Given the description of an element on the screen output the (x, y) to click on. 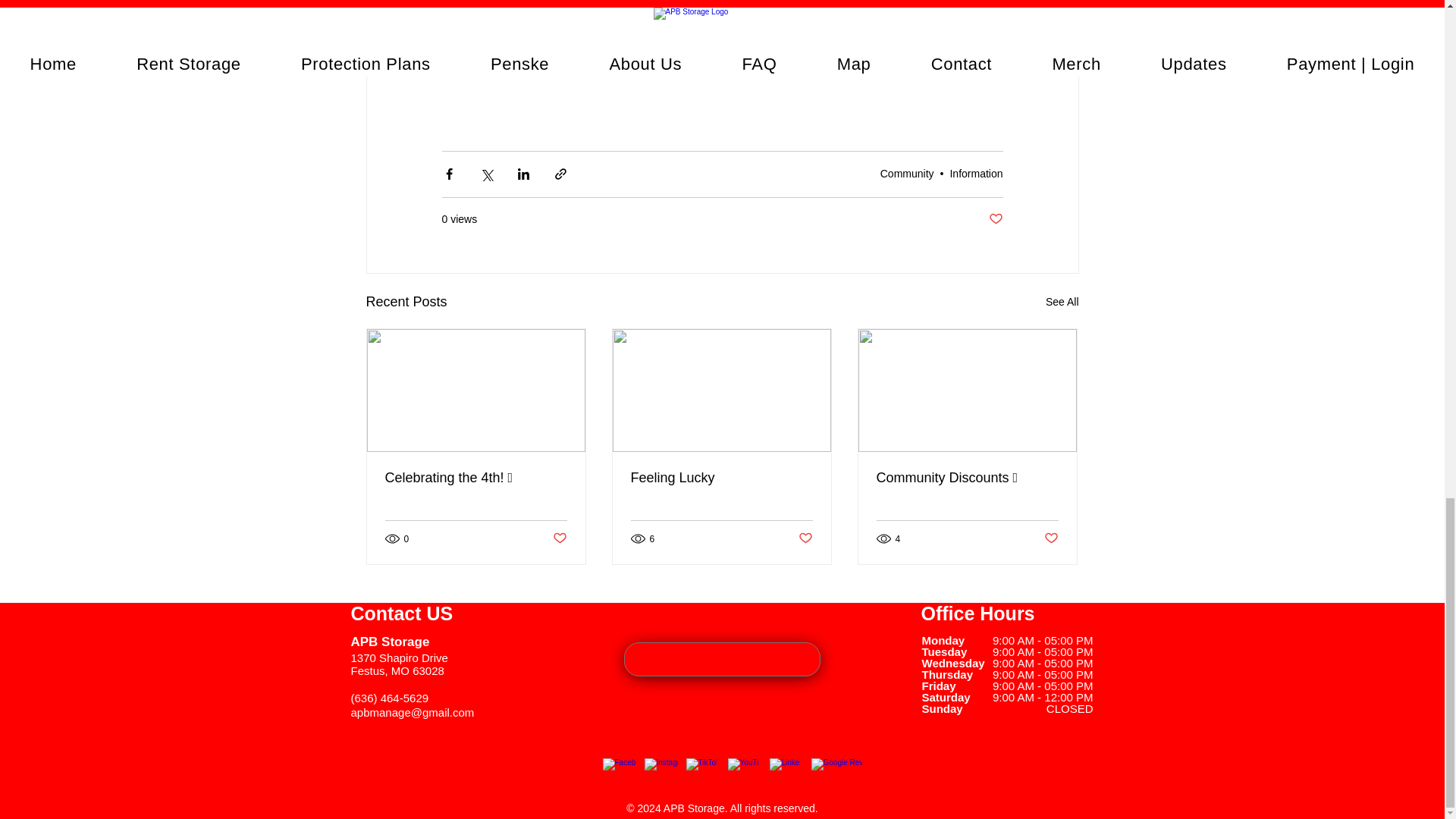
See All (1061, 301)
Community (907, 173)
Post not marked as liked (995, 219)
Information (976, 173)
Post not marked as liked (558, 538)
Feeling Lucky (721, 478)
